Given the description of an element on the screen output the (x, y) to click on. 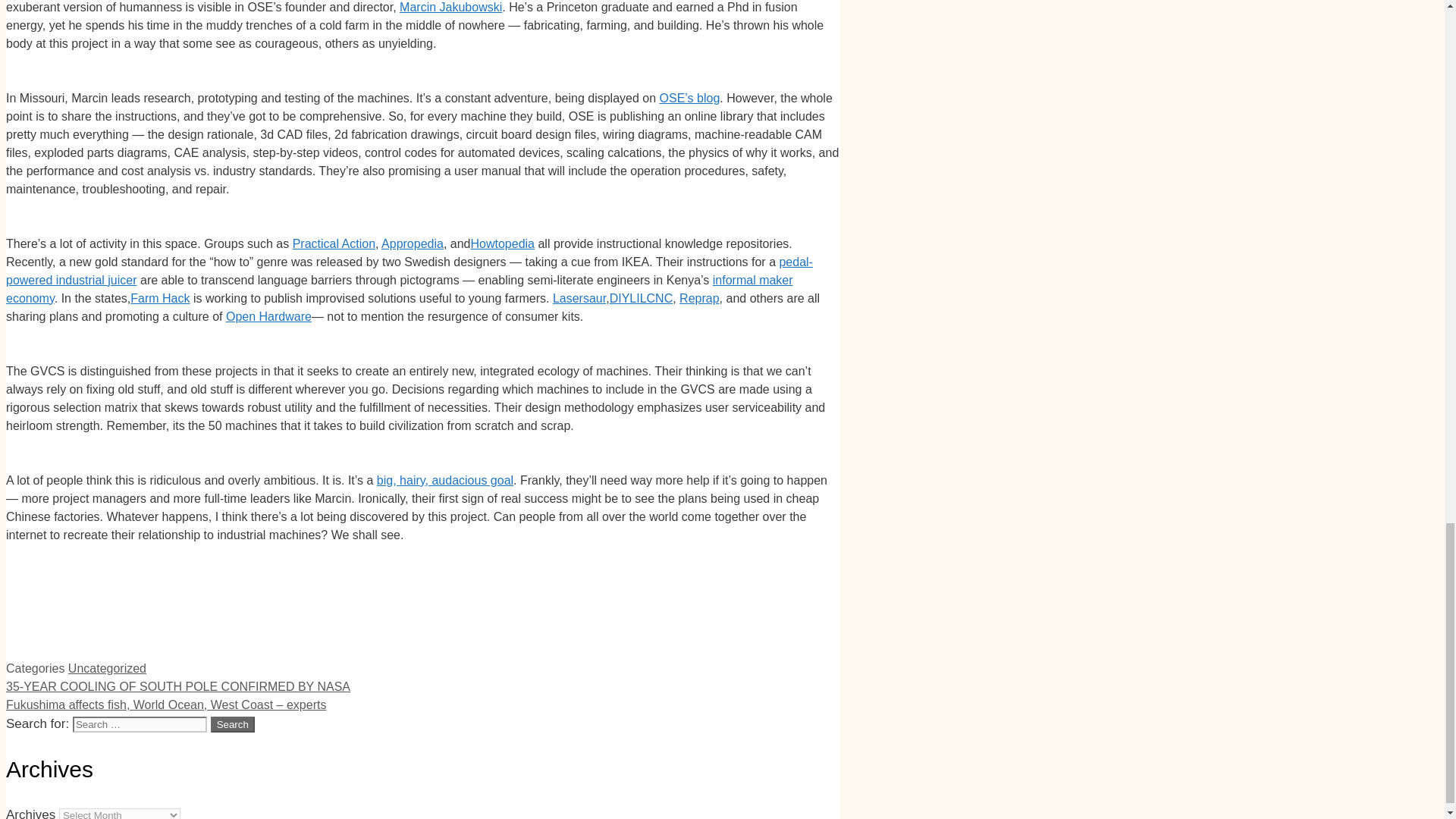
Lasersaur (579, 297)
Marcin Jakubowski (450, 6)
Farm Hack (160, 297)
Search (232, 724)
Practical Action (333, 243)
Search (232, 724)
DIYLILCNC (641, 297)
informal maker economy (399, 288)
Reprap (699, 297)
Appropedia (412, 243)
Howtopedia (502, 243)
Search for: (139, 724)
Open Hardware (268, 316)
pedal-powered industrial juicer (408, 270)
